Given the description of an element on the screen output the (x, y) to click on. 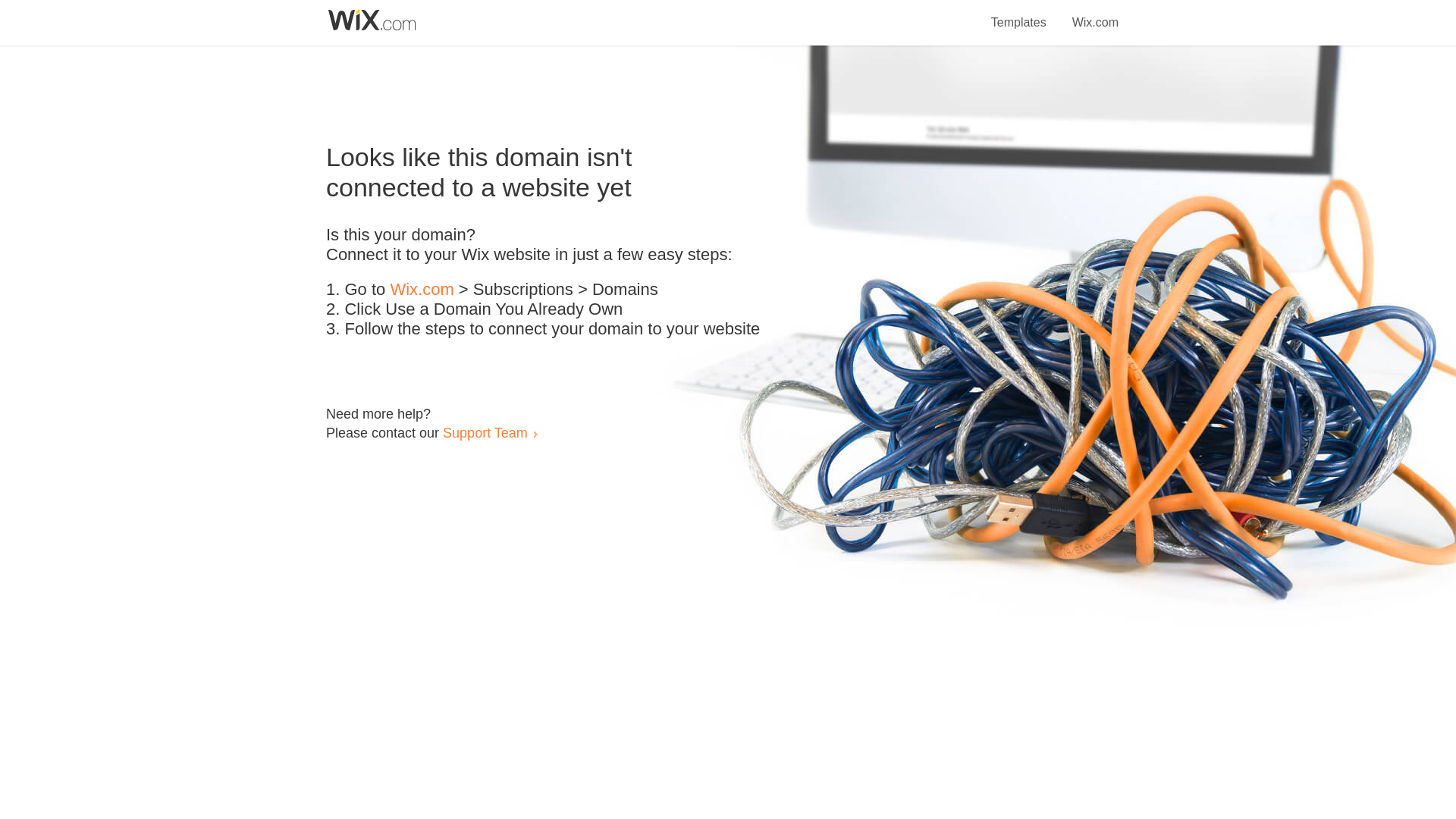
Wix.com (421, 289)
Templates (1018, 14)
Wix.com (1095, 14)
Support Team (484, 432)
